Given the description of an element on the screen output the (x, y) to click on. 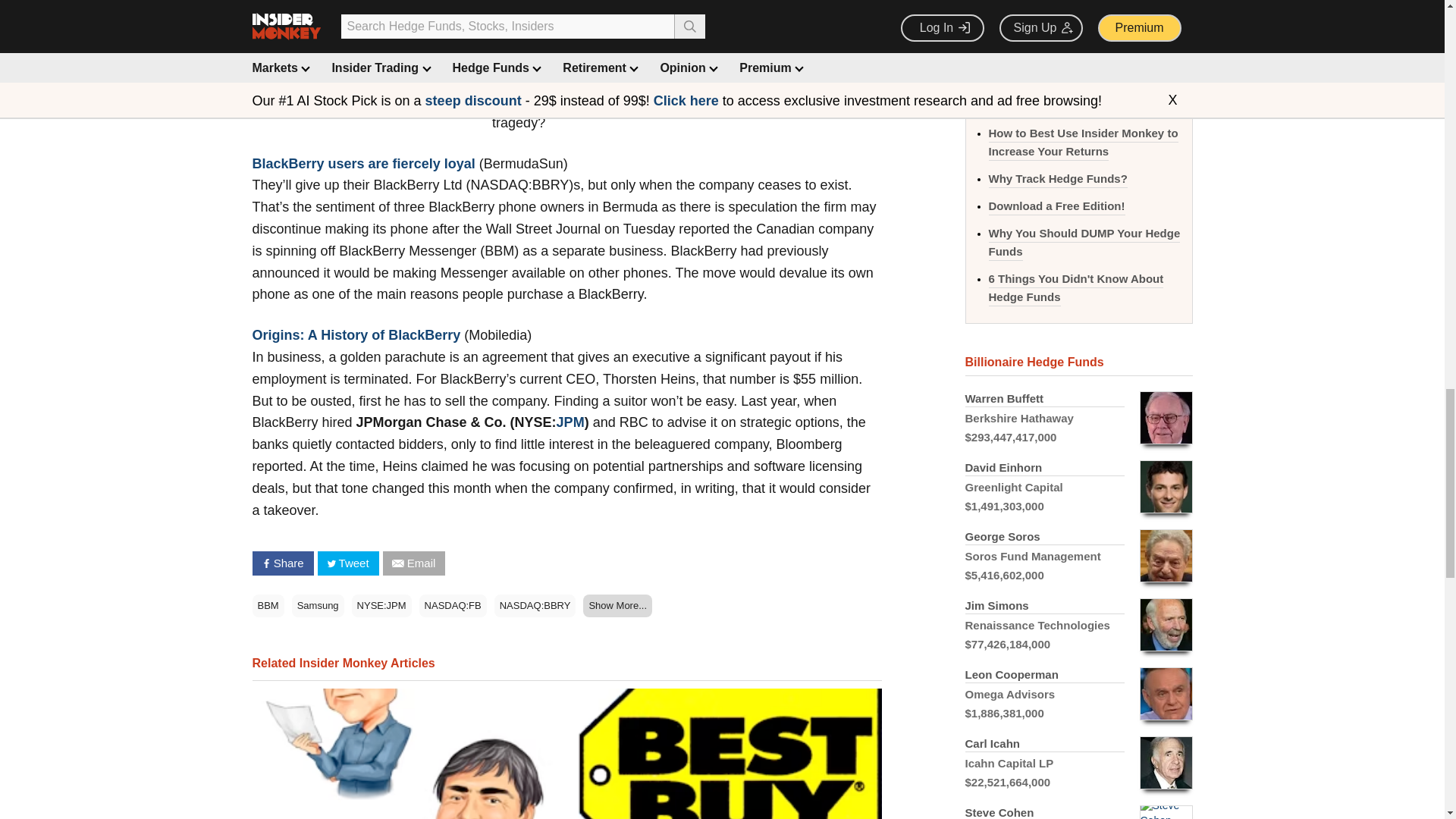
Click to see details for Berkshire Hathaway (1077, 418)
Click to see details for Icahn Capital LP (1077, 762)
Click to see details for Greenlight Capital (1077, 486)
Click to see details for Point72 Asset Management (1077, 808)
Click to see details for Renaissance Technologies (1077, 625)
Click to see details for Omega Advisors (1077, 694)
Click to see details for Soros Fund Management (1077, 555)
